Given the description of an element on the screen output the (x, y) to click on. 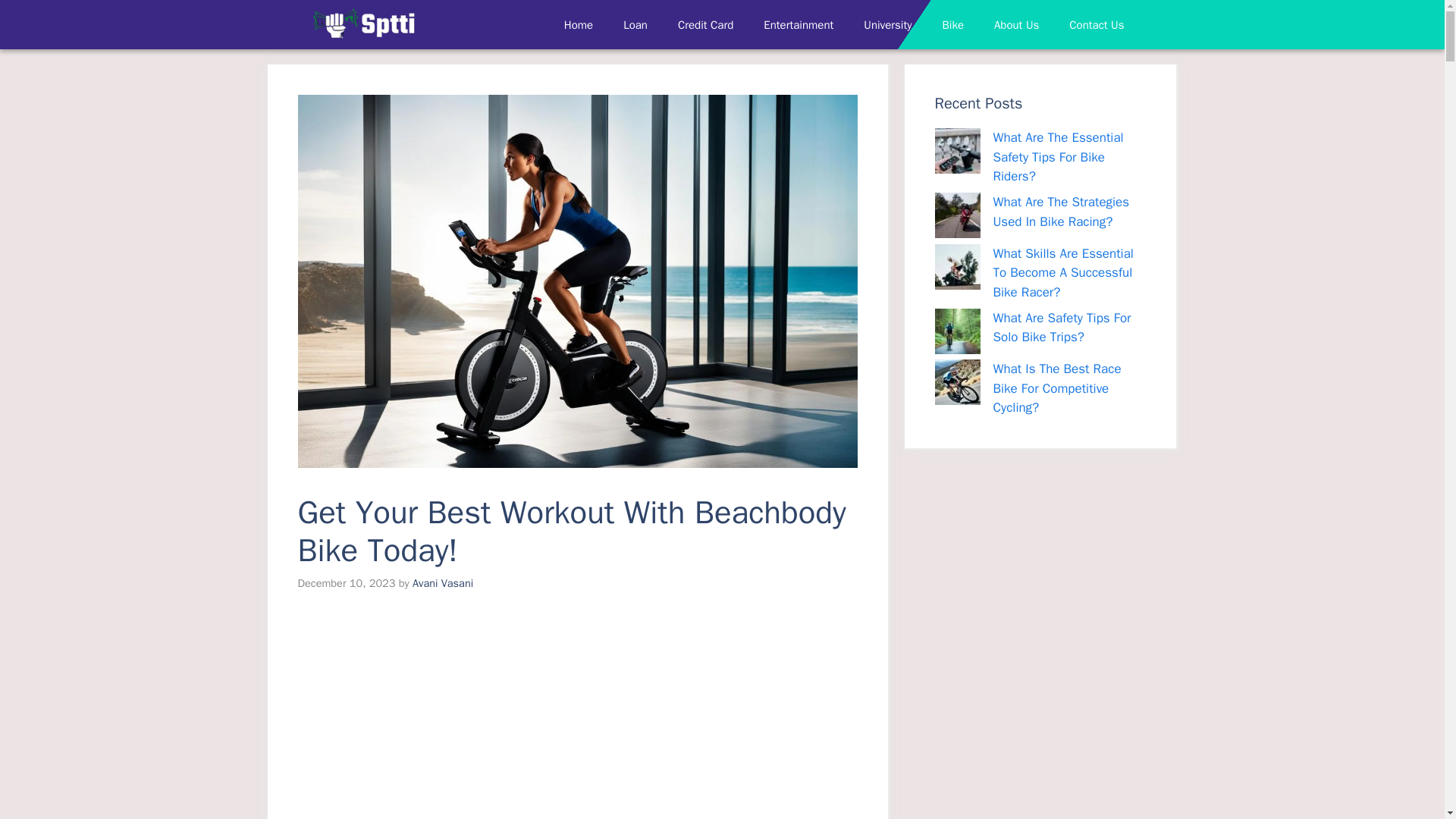
Home (578, 23)
Entertainment (798, 23)
Credit Card (705, 23)
University (887, 23)
Avani Vasani (442, 582)
Loan (635, 23)
Bike (952, 23)
CREDIT CARD (362, 24)
Contact Us (1096, 23)
View all posts by Avani Vasani (442, 582)
About Us (1016, 23)
